Given the description of an element on the screen output the (x, y) to click on. 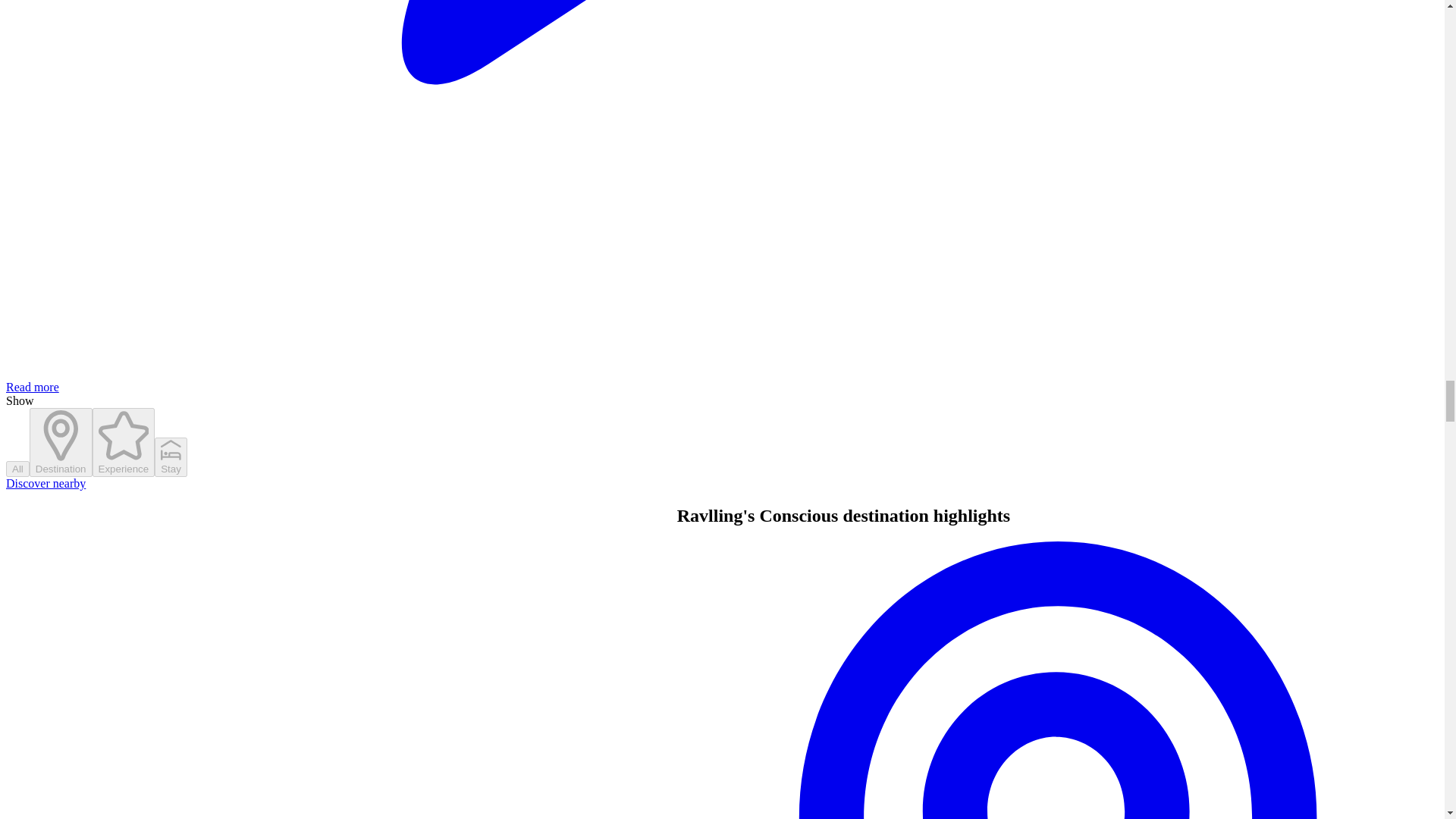
Destination (61, 441)
All (17, 468)
Experience (124, 441)
